Given the description of an element on the screen output the (x, y) to click on. 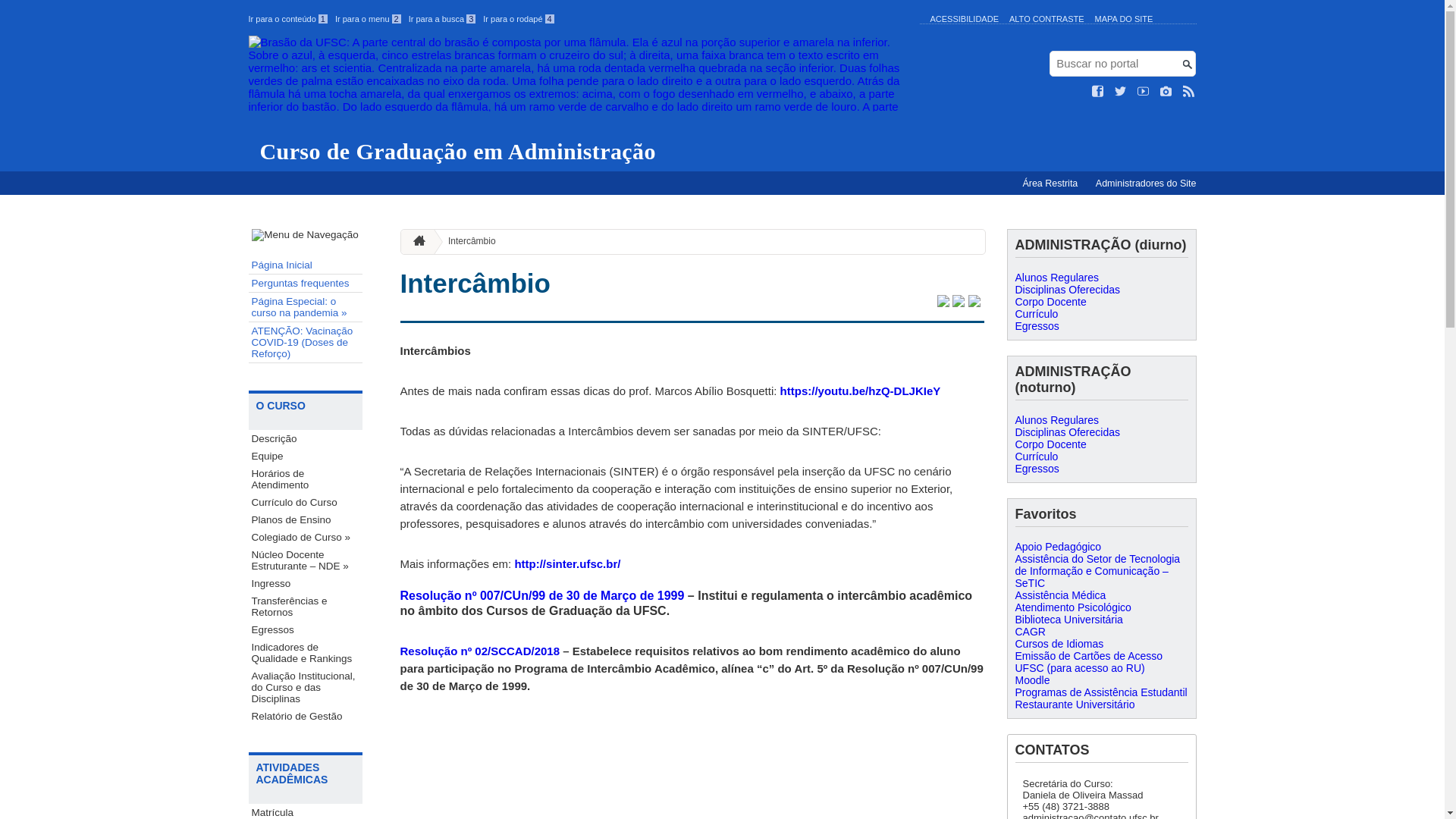
MAPA DO SITE Element type: text (1124, 18)
Compartilhar no Twitter Element type: hover (943, 302)
https://youtu.be/hzQ-DLJKIeY Element type: text (860, 390)
Siga no Twitter Element type: hover (1120, 91)
Planos de Ensino Element type: text (305, 519)
Ir para a busca 3 Element type: text (442, 18)
Indicadores de Qualidade e Rankings Element type: text (305, 652)
Disciplinas Oferecidas Element type: text (1067, 289)
Egressos Element type: text (305, 629)
Egressos Element type: text (1036, 468)
Disciplinas Oferecidas Element type: text (1067, 432)
Equipe Element type: text (305, 455)
Ingresso Element type: text (305, 583)
Veja no Instagram Element type: hover (1166, 91)
Alunos Regulares Element type: text (1056, 420)
Corpo Docente Element type: text (1049, 301)
Cursos de Idiomas Element type: text (1058, 643)
http://sinter.ufsc.br/ Element type: text (567, 563)
Ir para o menu 2 Element type: text (368, 18)
Perguntas frequentes Element type: text (305, 283)
Egressos Element type: text (1036, 326)
ALTO CONTRASTE Element type: text (1046, 18)
Compartilhar no WhatsApp Element type: hover (973, 302)
Moodle Element type: text (1031, 680)
Administradores do Site Element type: text (1146, 183)
CAGR Element type: text (1029, 631)
ACESSIBILIDADE Element type: text (963, 18)
Compartilhar no Facebook Element type: hover (958, 302)
Alunos Regulares Element type: text (1056, 277)
Corpo Docente Element type: text (1049, 444)
Curta no Facebook Element type: hover (1098, 91)
